Given the description of an element on the screen output the (x, y) to click on. 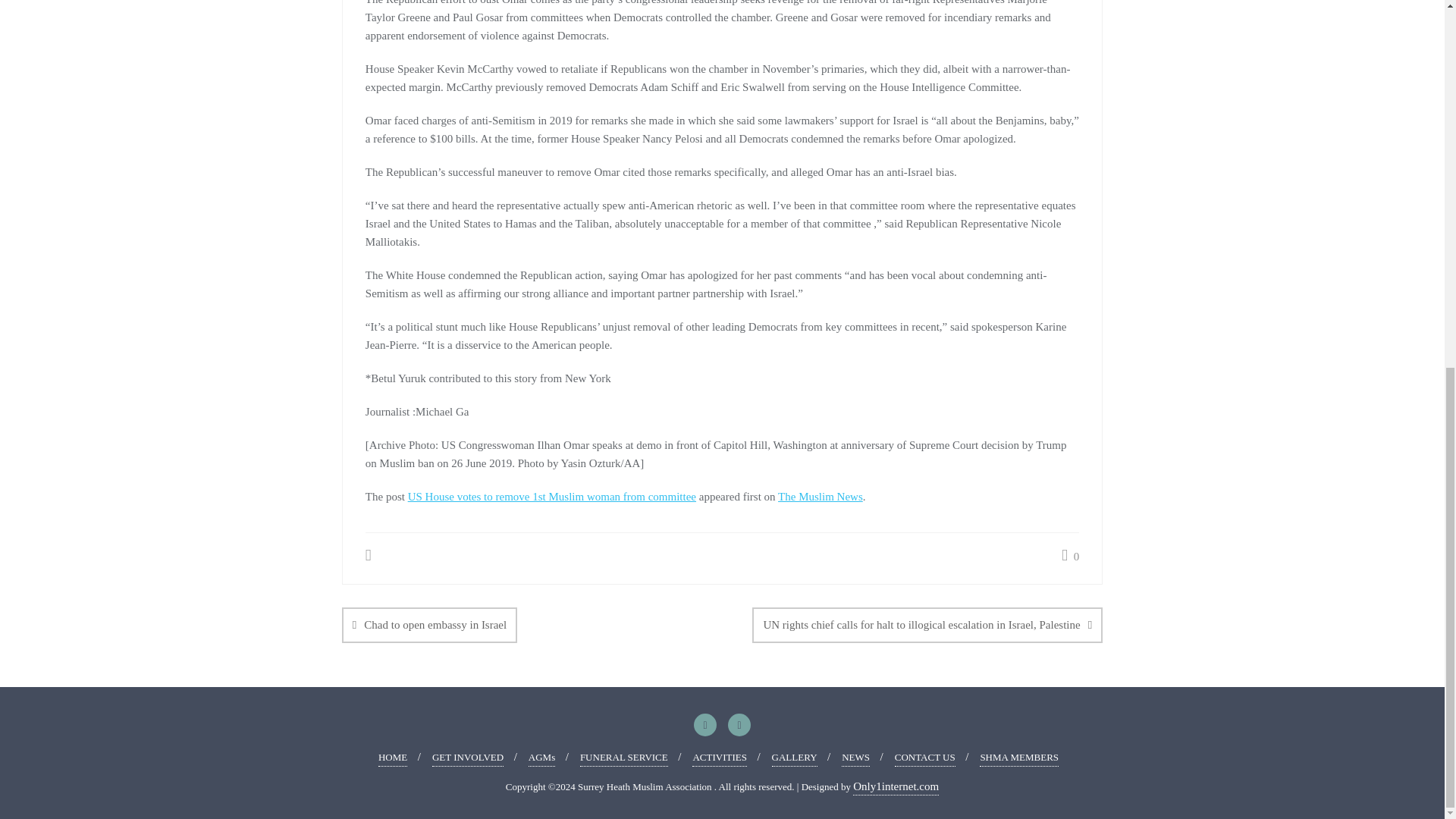
FUNERAL SERVICE (623, 757)
Chad to open embassy in Israel (429, 624)
CONTACT US (925, 757)
ACTIVITIES (719, 757)
NEWS (855, 757)
SHMA MEMBERS (1018, 757)
GET INVOLVED (467, 757)
GALLERY (793, 757)
HOME (392, 757)
